Given the description of an element on the screen output the (x, y) to click on. 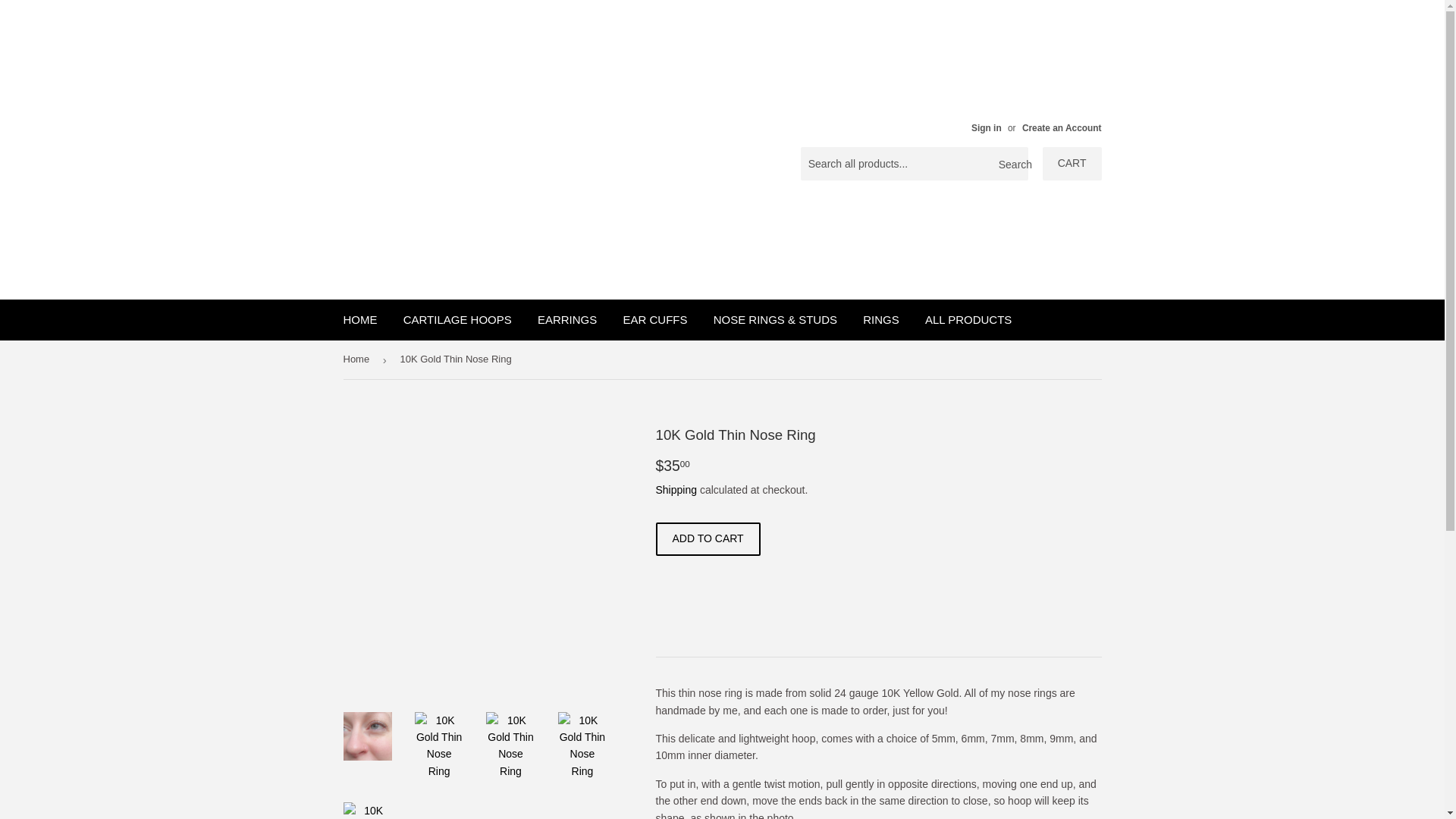
Create an Account (1062, 127)
EARRINGS (566, 319)
RINGS (881, 319)
ADD TO CART (707, 539)
Sign in (986, 127)
Shipping (676, 490)
CART (1072, 163)
Search (1010, 164)
EAR CUFFS (654, 319)
CARTILAGE HOOPS (456, 319)
